Given the description of an element on the screen output the (x, y) to click on. 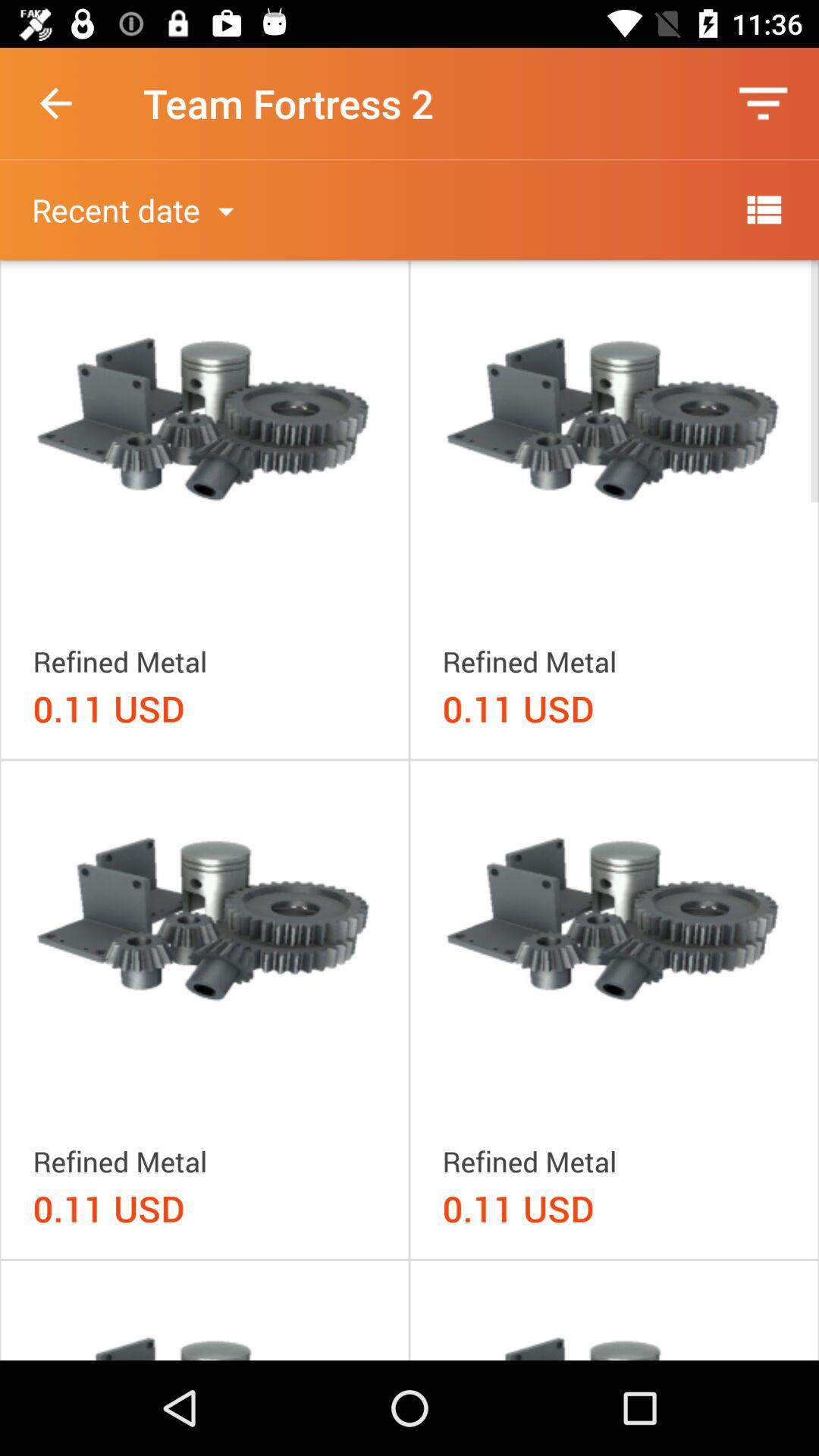
turn on the item next to the recent date (763, 209)
